Given the description of an element on the screen output the (x, y) to click on. 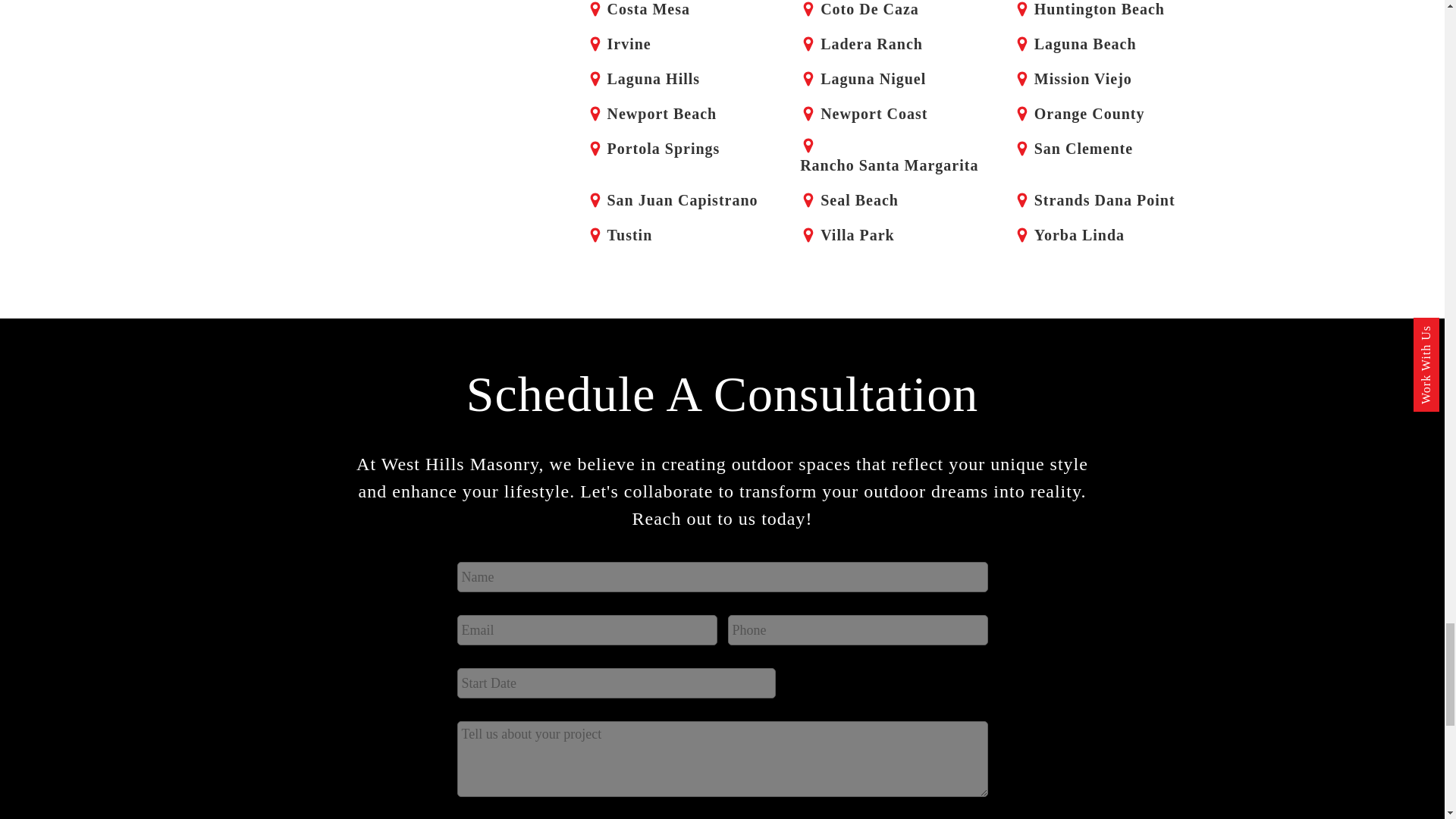
Irvine (681, 42)
Ladera Ranch (894, 42)
Coto De Caza (894, 12)
Costa Mesa (681, 12)
Huntington Beach (1108, 12)
